Given the description of an element on the screen output the (x, y) to click on. 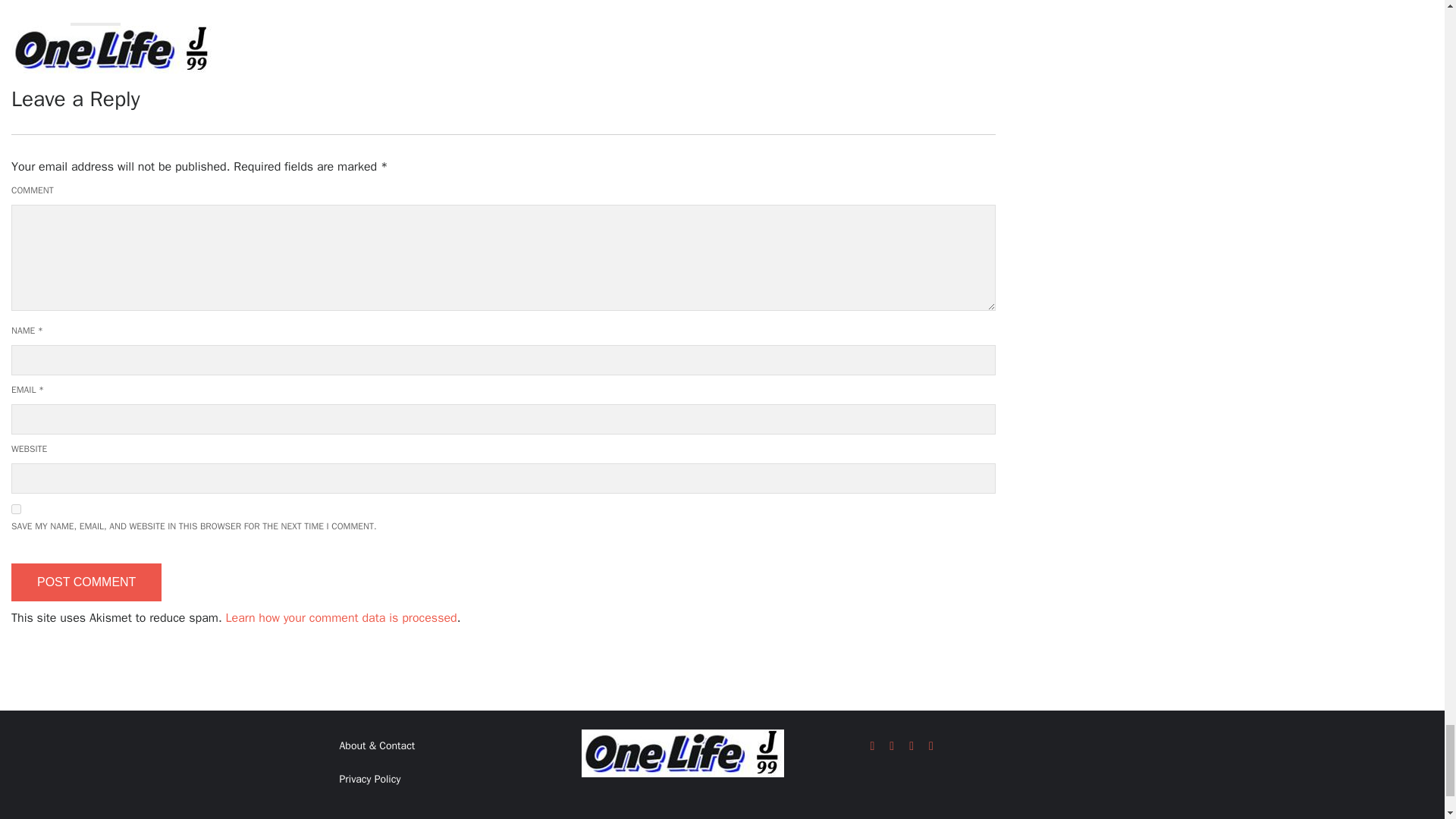
yes (16, 509)
Learn how your comment data is processed (341, 617)
Post Comment (86, 582)
Reply (95, 37)
Post Comment (86, 582)
